Given the description of an element on the screen output the (x, y) to click on. 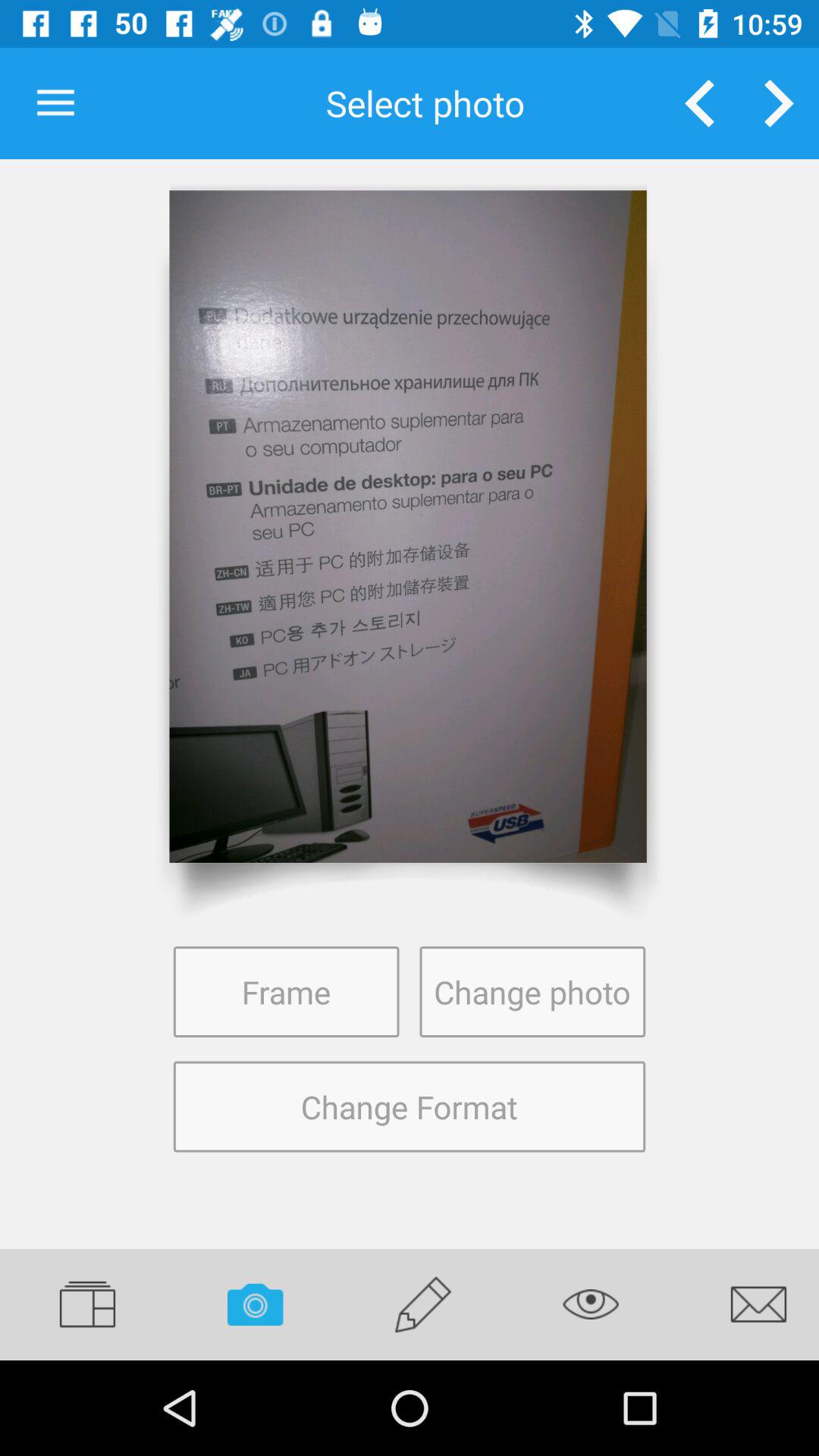
choose the item to the right of select photo icon (699, 103)
